Given the description of an element on the screen output the (x, y) to click on. 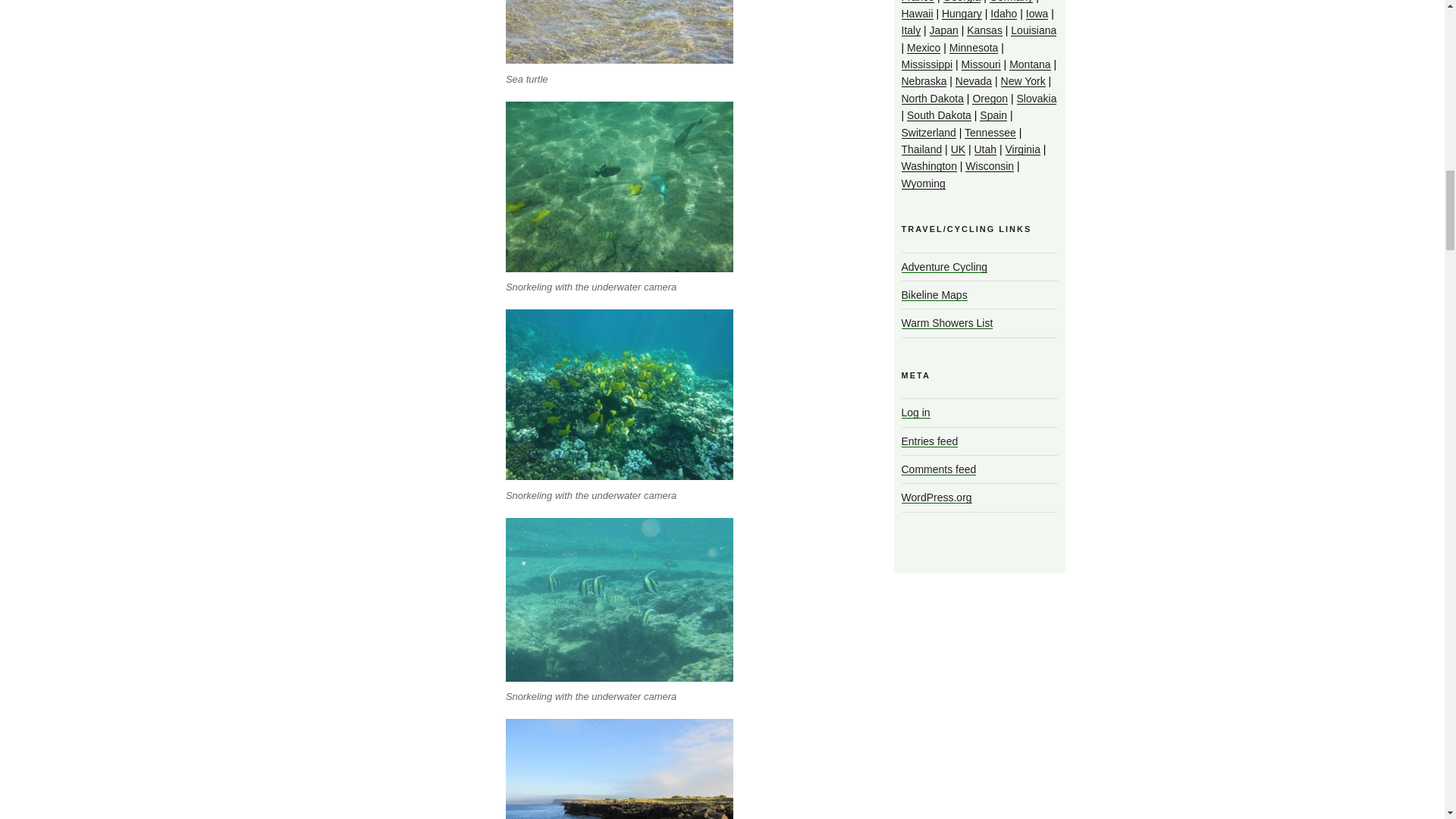
Membership site for touring bicyclists to share lodging (946, 322)
